Given the description of an element on the screen output the (x, y) to click on. 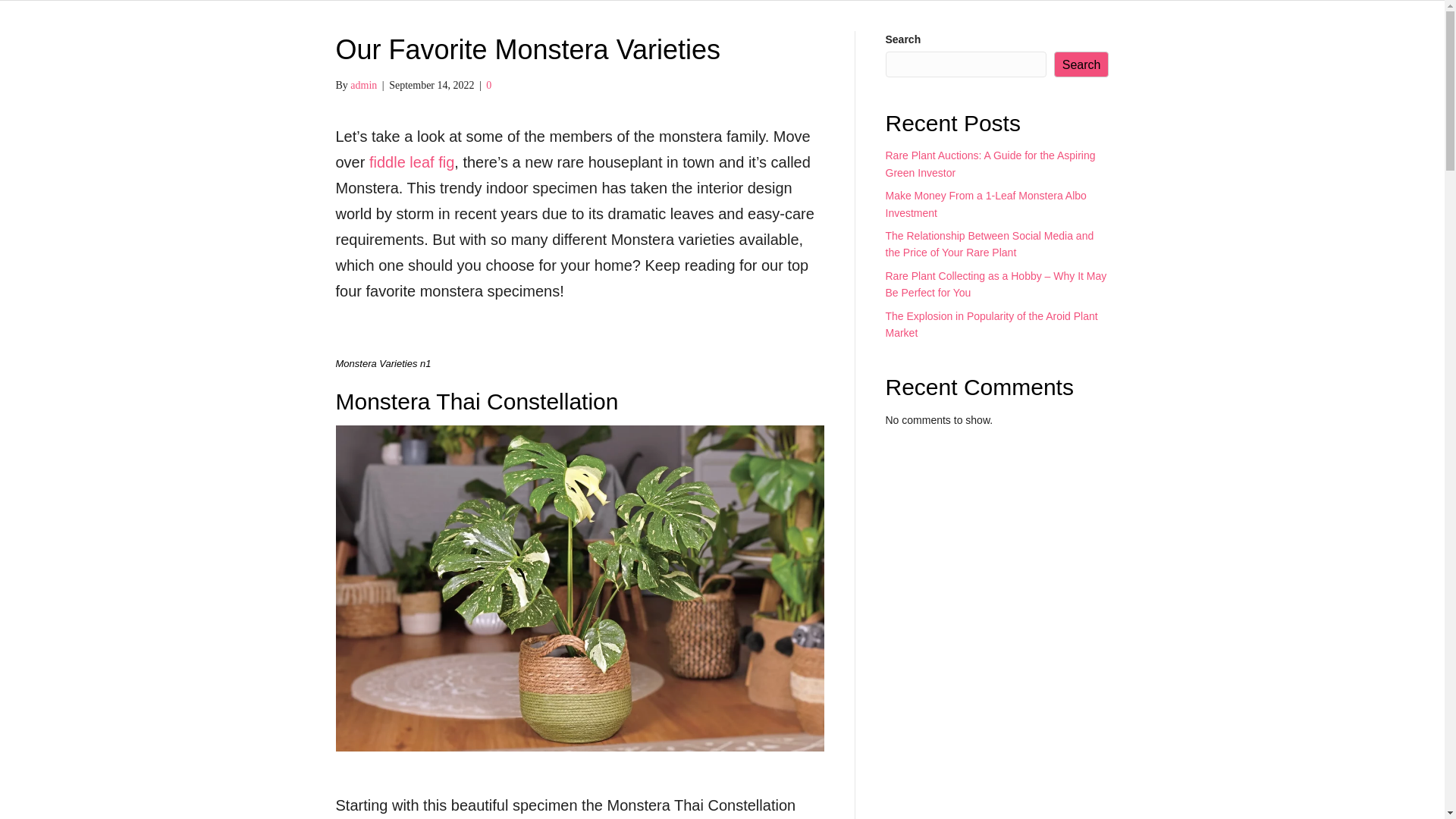
admin (363, 84)
Make Money From a 1-Leaf Monstera Albo Investment (985, 203)
Search (1081, 63)
The Explosion in Popularity of the Aroid Plant Market (991, 323)
fiddle leaf fig (411, 161)
Rare Plant Auctions: A Guide for the Aspiring Green Investor (990, 163)
